Given the description of an element on the screen output the (x, y) to click on. 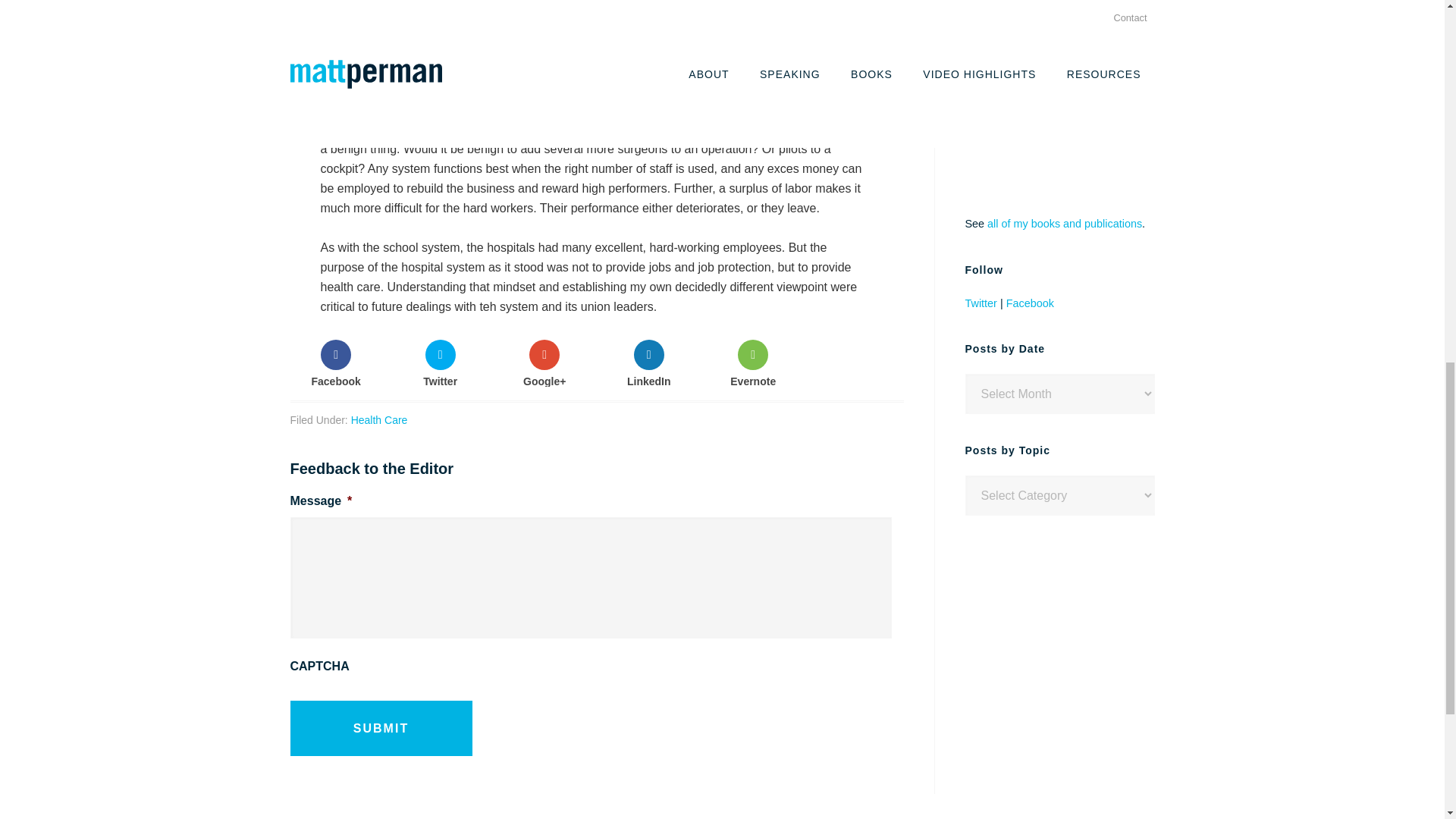
Facebook (335, 362)
Submit (380, 728)
LinkedIn (648, 362)
Evernote (753, 362)
Twitter (979, 303)
Submit (380, 728)
Health Care (378, 419)
Facebook (1030, 303)
all of my books and publications (1064, 223)
Twitter (440, 362)
